Given the description of an element on the screen output the (x, y) to click on. 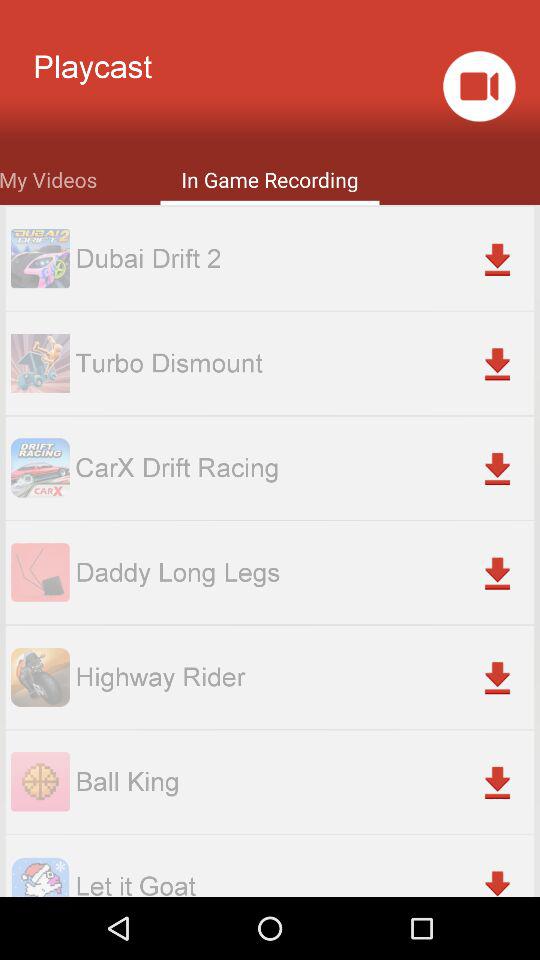
turn off icon next to in game recording item (48, 178)
